Given the description of an element on the screen output the (x, y) to click on. 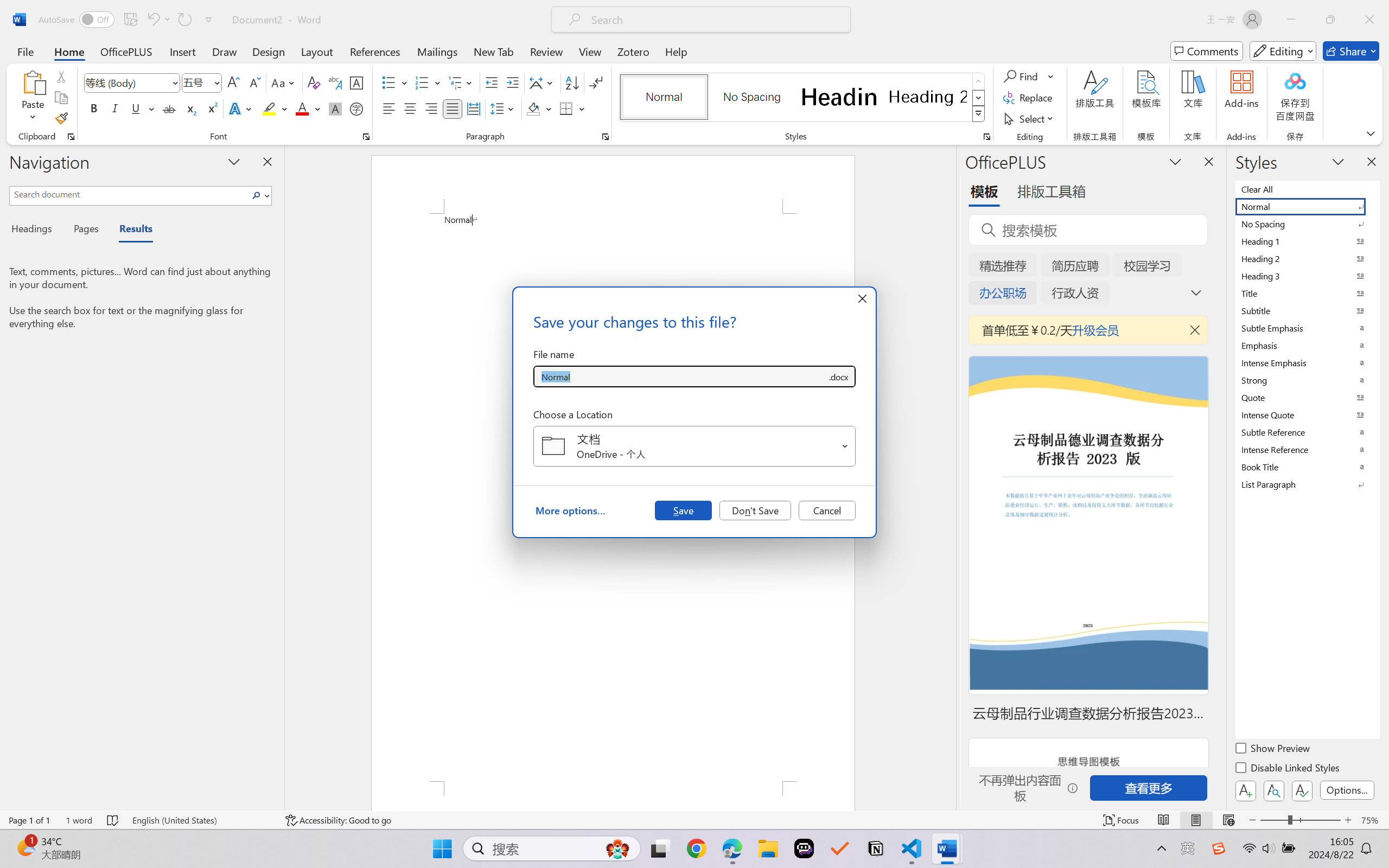
Language English (United States) (201, 819)
Class: MsoCommandBar (694, 819)
Replace... (1029, 97)
Notion (875, 848)
Zoom Out (1273, 819)
Minimize (1291, 19)
AutoSave (76, 19)
Accessibility Checker Accessibility: Good to go (338, 819)
Superscript (210, 108)
Results (130, 229)
Search (259, 195)
